Given the description of an element on the screen output the (x, y) to click on. 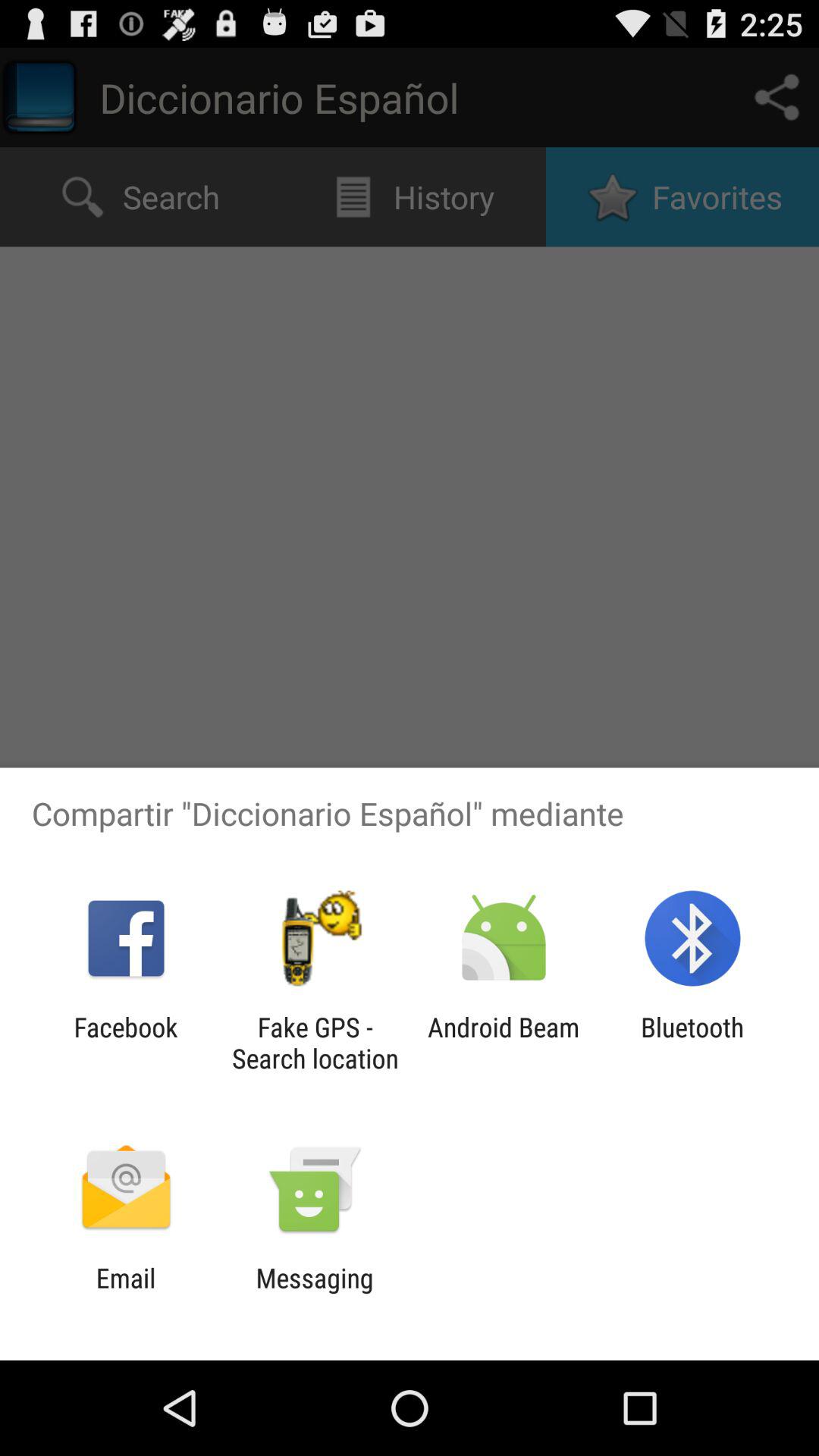
click the app next to the facebook app (314, 1042)
